Given the description of an element on the screen output the (x, y) to click on. 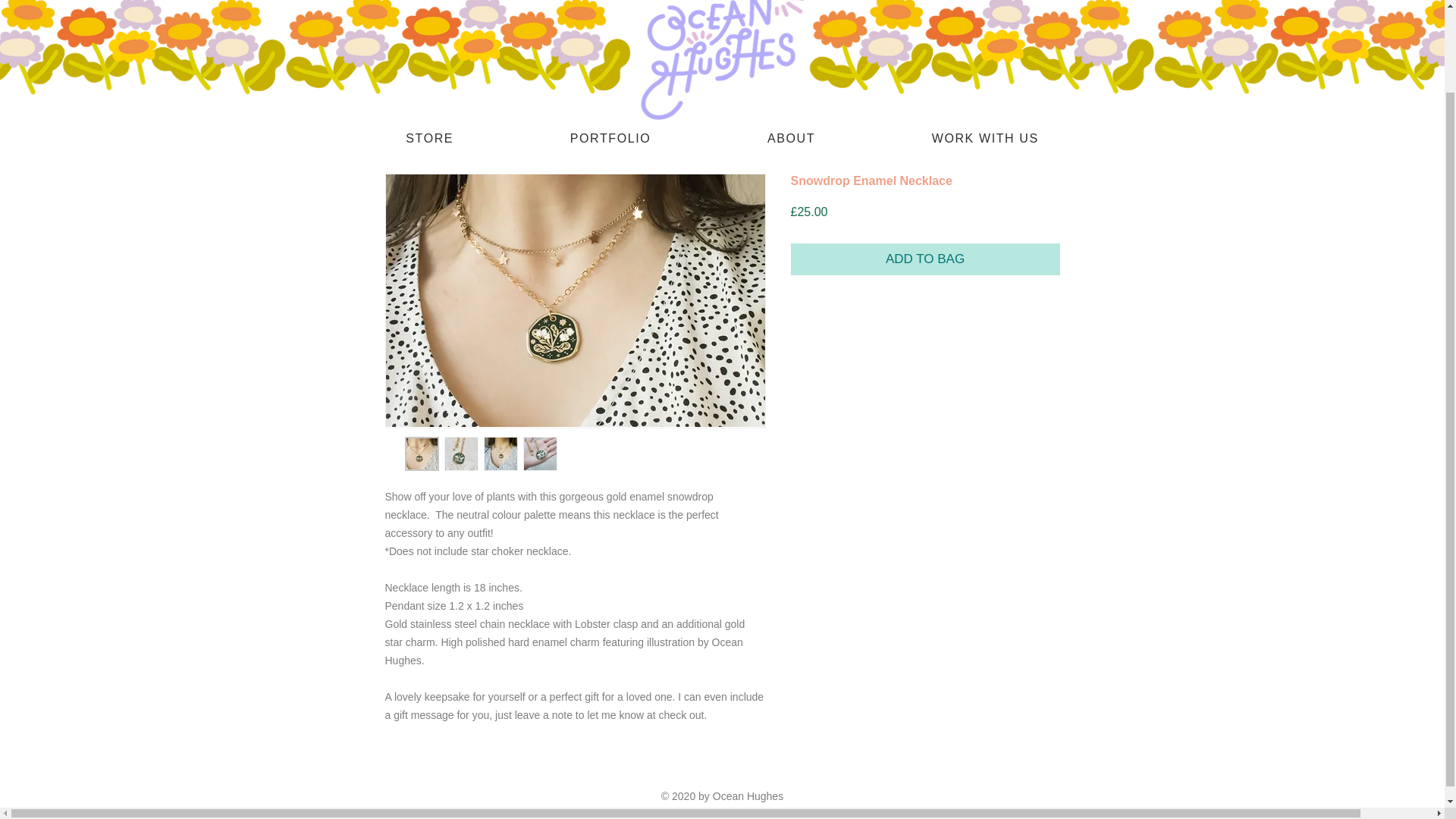
ABOUT (790, 139)
WORK WITH US (985, 139)
PORTFOLIO (610, 139)
STORE (429, 139)
ADD TO BAG (924, 259)
